Given the description of an element on the screen output the (x, y) to click on. 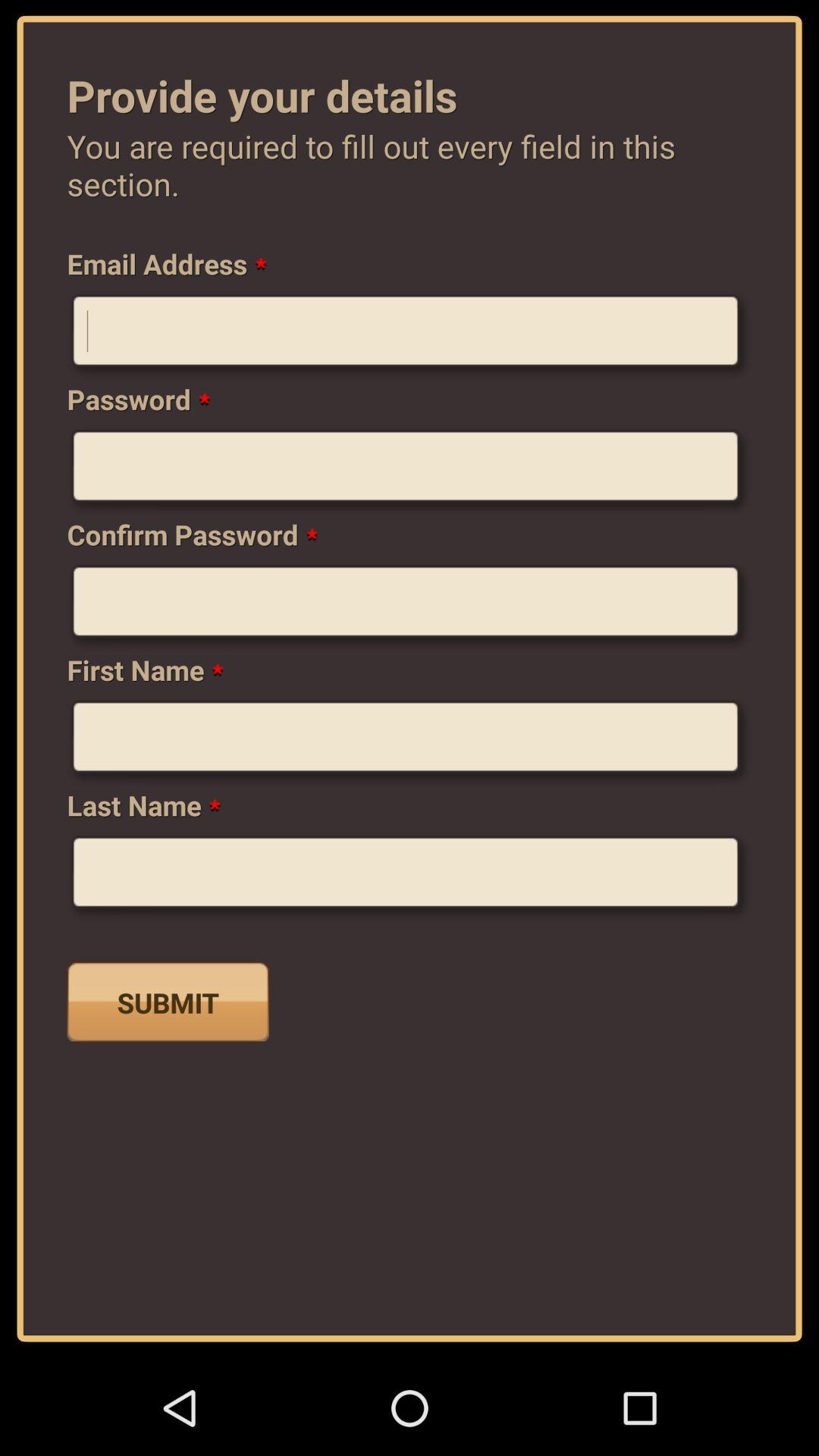
press submit item (168, 1001)
